Given the description of an element on the screen output the (x, y) to click on. 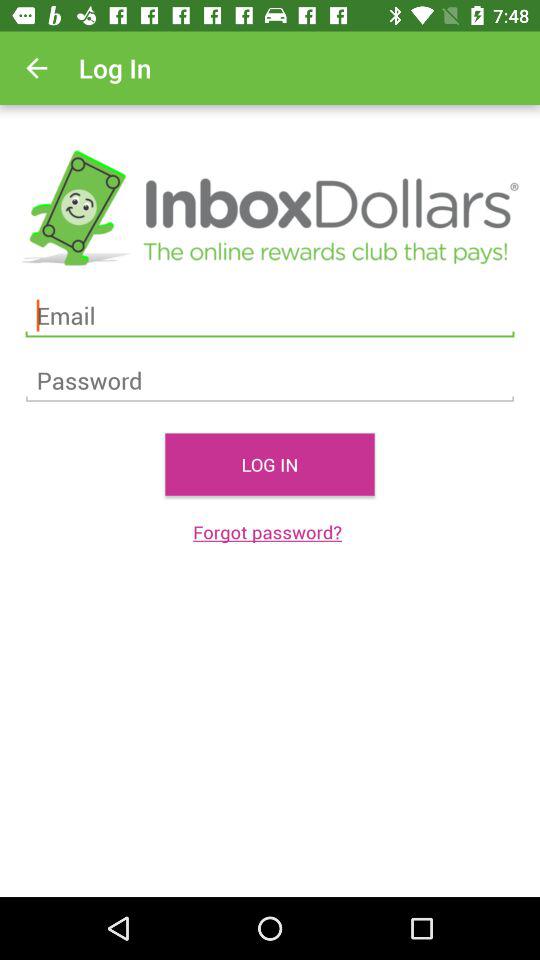
select the app to the left of the log in item (36, 68)
